Given the description of an element on the screen output the (x, y) to click on. 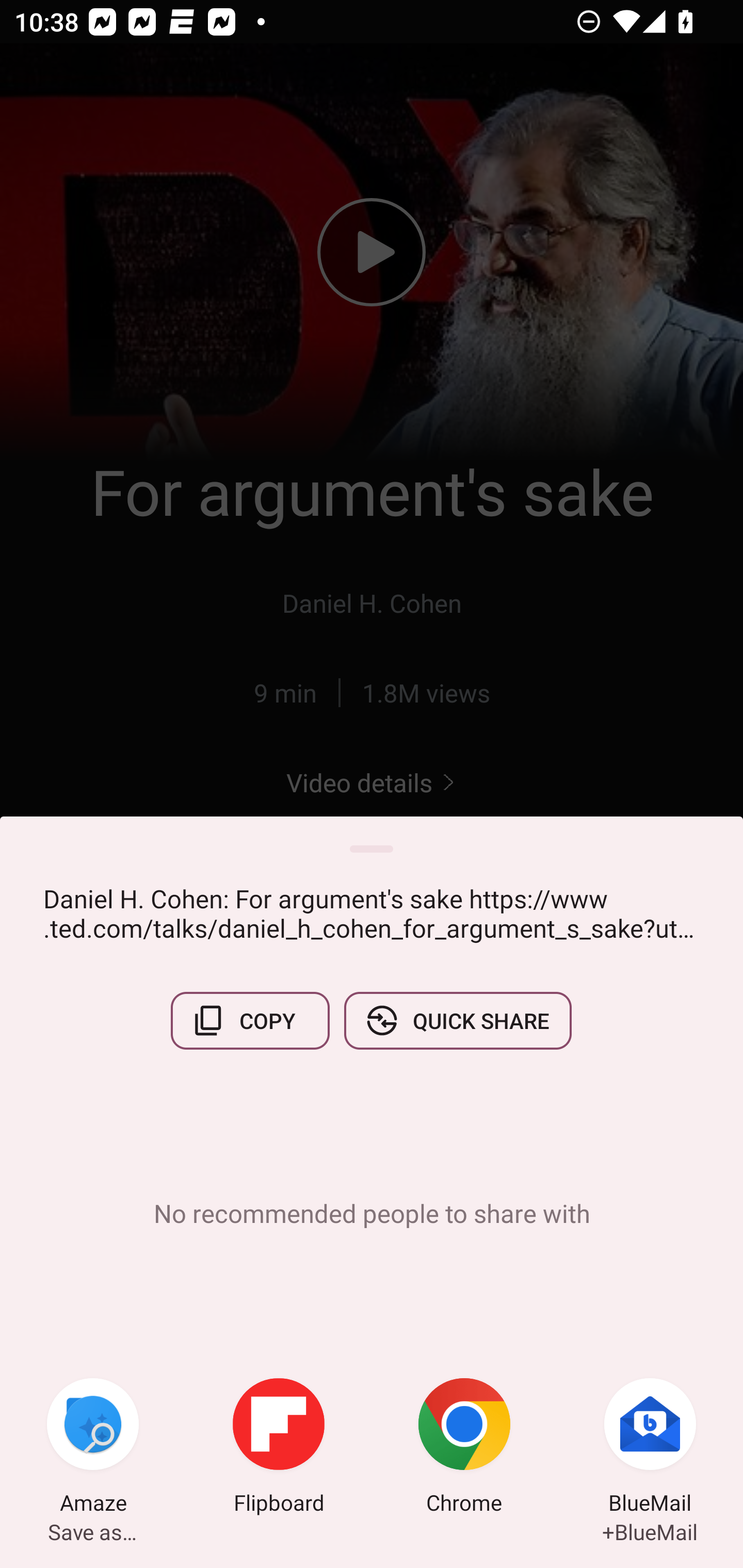
COPY (249, 1020)
QUICK SHARE (457, 1020)
Amaze Save as… (92, 1448)
Flipboard (278, 1448)
Chrome (464, 1448)
BlueMail +BlueMail (650, 1448)
